Given the description of an element on the screen output the (x, y) to click on. 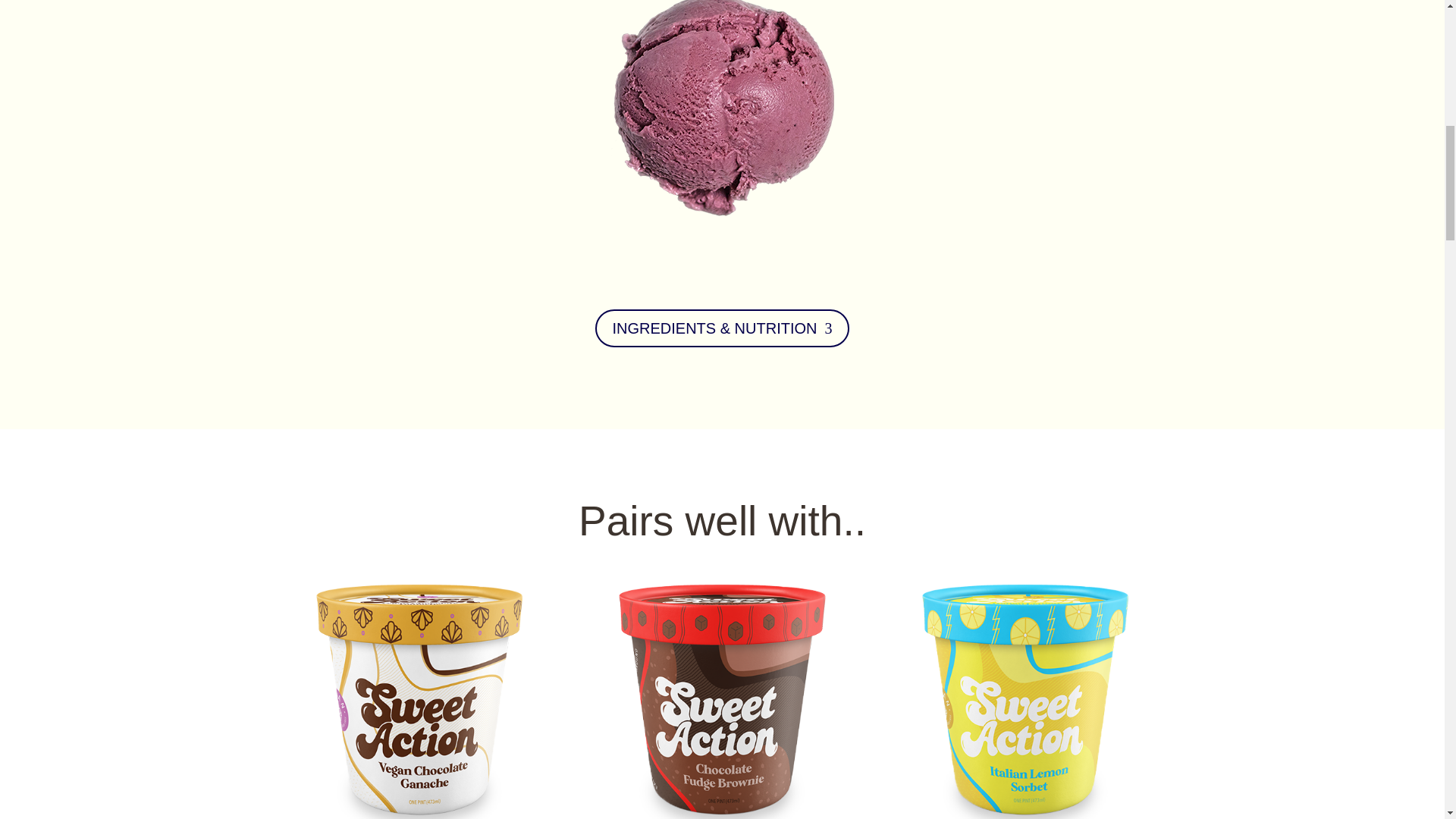
Scoop of Blackberry Lavender (721, 135)
